Given the description of an element on the screen output the (x, y) to click on. 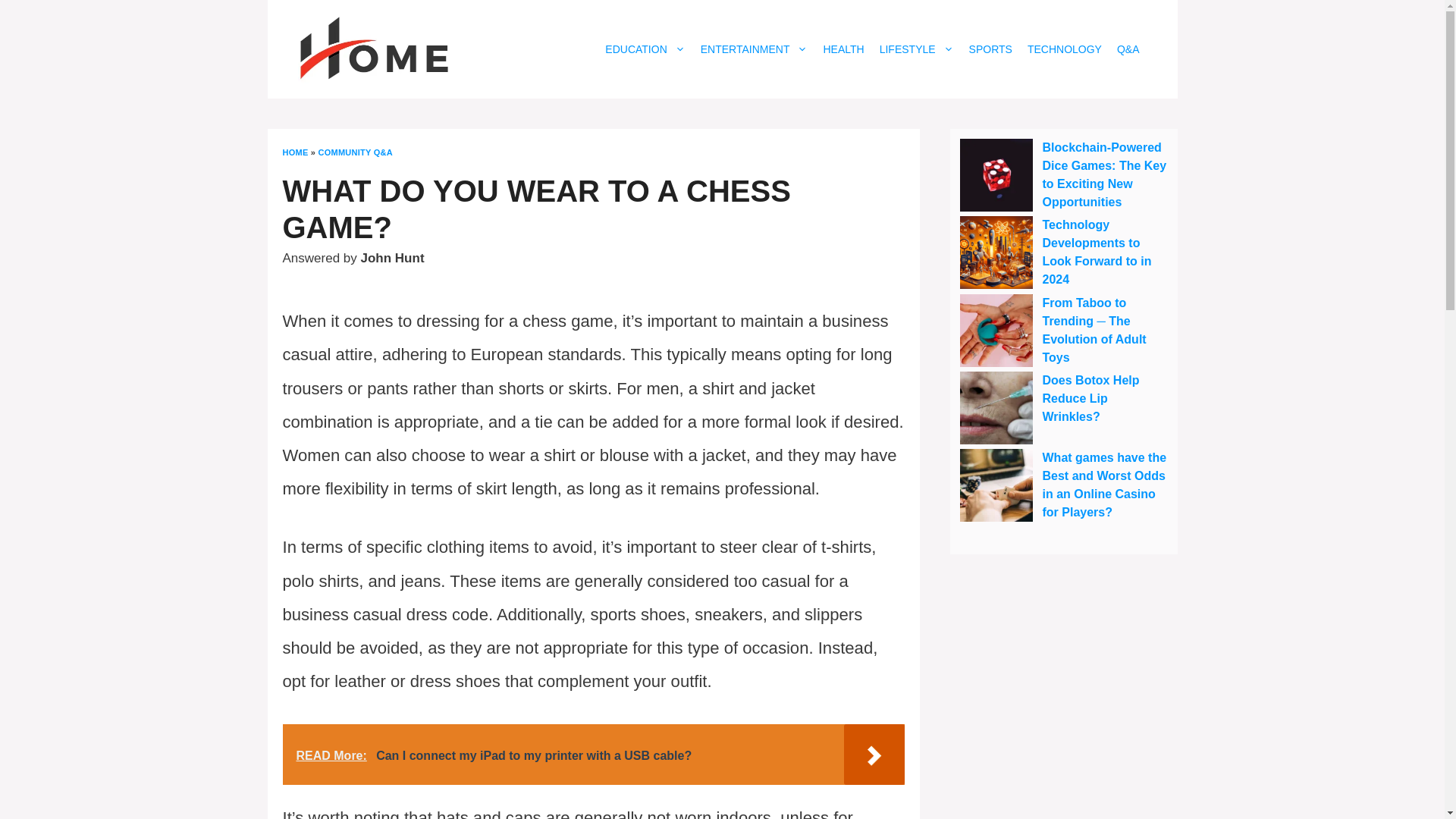
EDUCATION (644, 48)
LIFESTYLE (916, 48)
ENTERTAINMENT (754, 48)
Does Botox Help Reduce Lip Wrinkles? 4 (995, 407)
HEALTH (842, 48)
SPORTS (990, 48)
TECHNOLOGY (1064, 48)
Technology Developments to Look Forward to in 2024 2 (995, 252)
